Given the description of an element on the screen output the (x, y) to click on. 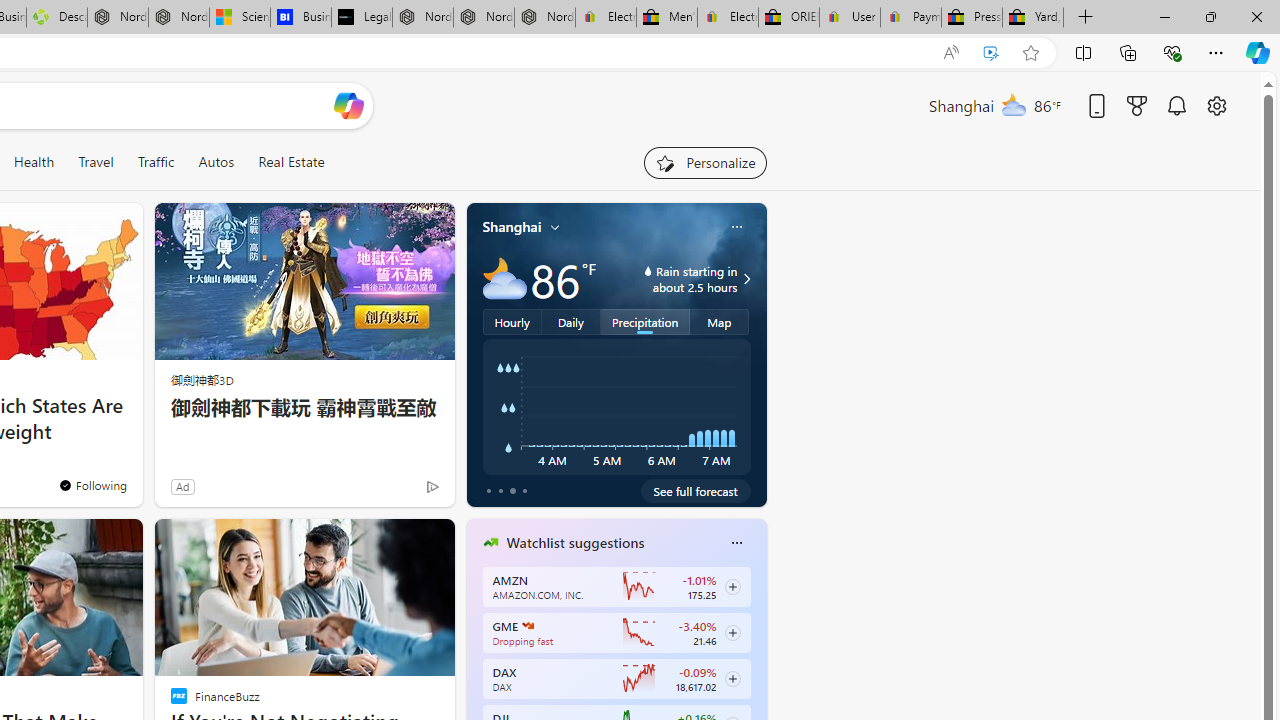
Hide this story (393, 542)
previous (476, 670)
Mostly cloudy (504, 278)
Class: icon-img (736, 542)
Daily (571, 321)
Autos (216, 162)
water-drop-icon (648, 270)
See full forecast (695, 490)
4 AM 5 AM 6 AM 7 AM (616, 407)
